Given the description of an element on the screen output the (x, y) to click on. 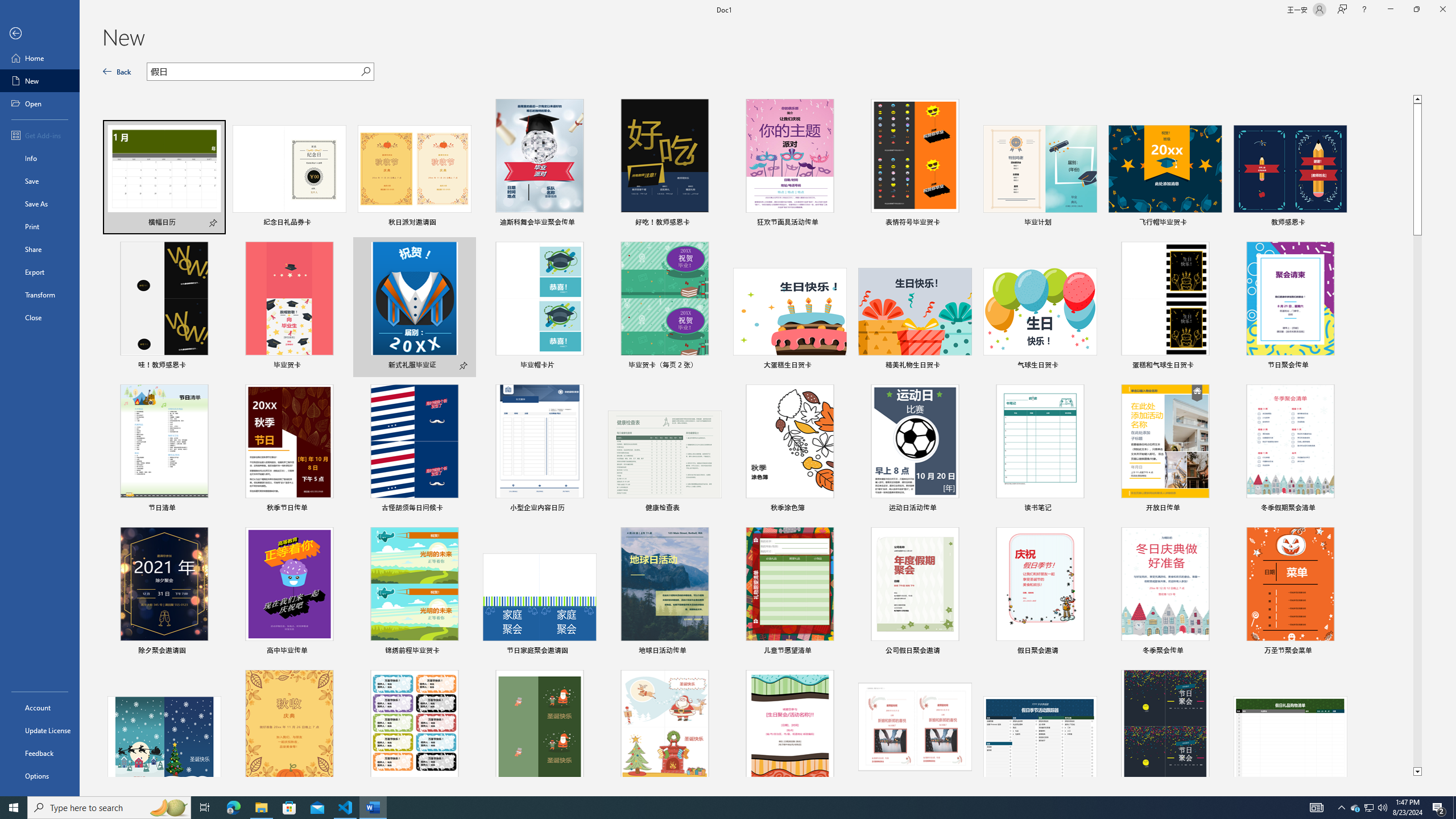
Print (40, 225)
Save As (40, 203)
